Given the description of an element on the screen output the (x, y) to click on. 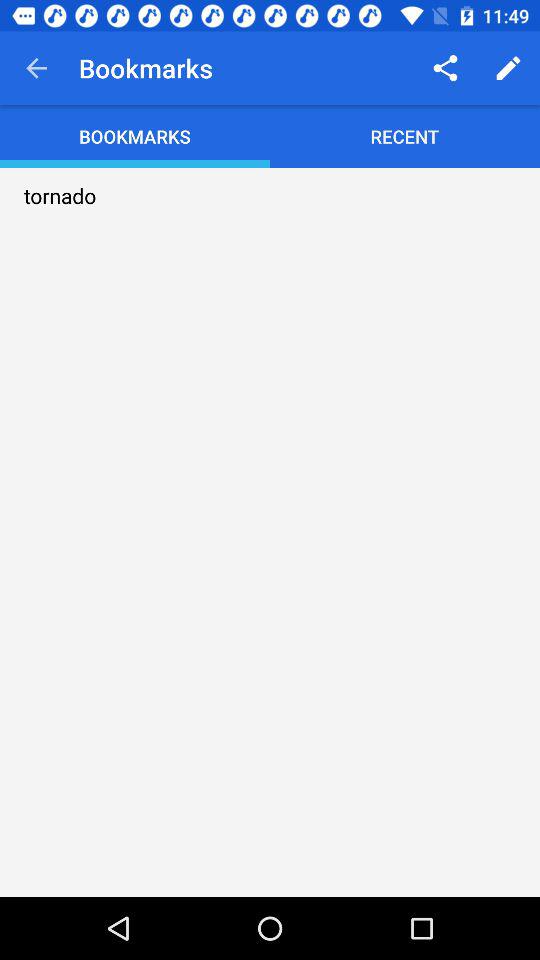
choose item next to the bookmarks (36, 68)
